Given the description of an element on the screen output the (x, y) to click on. 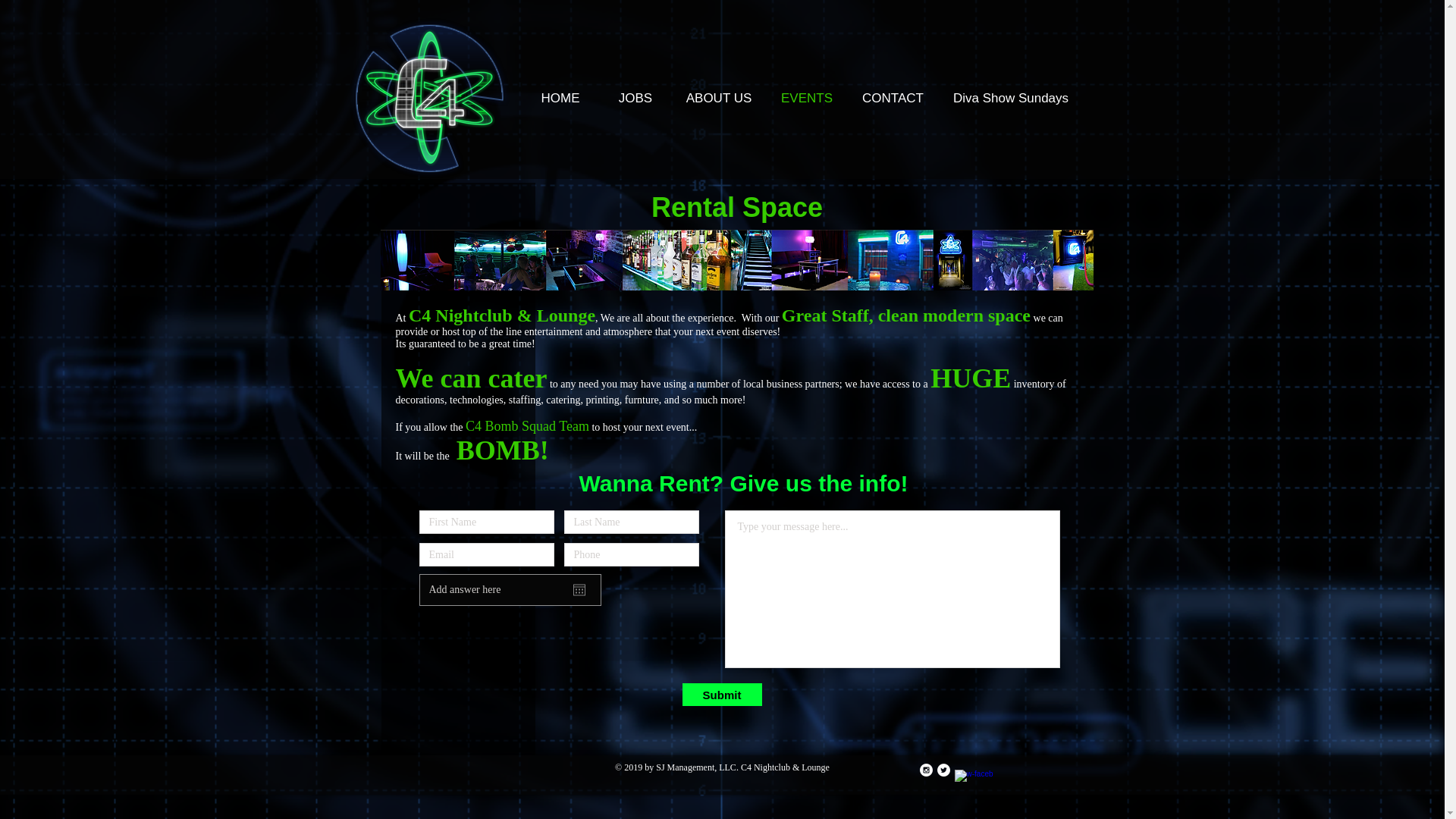
ABOUT US (718, 98)
JOBS (635, 98)
Scope.png (427, 97)
C4Transparent.png (428, 97)
CONTACT (892, 98)
Diva Show Sundays (1010, 98)
EVENTS (806, 98)
HOME (559, 98)
Submit (721, 694)
